Given the description of an element on the screen output the (x, y) to click on. 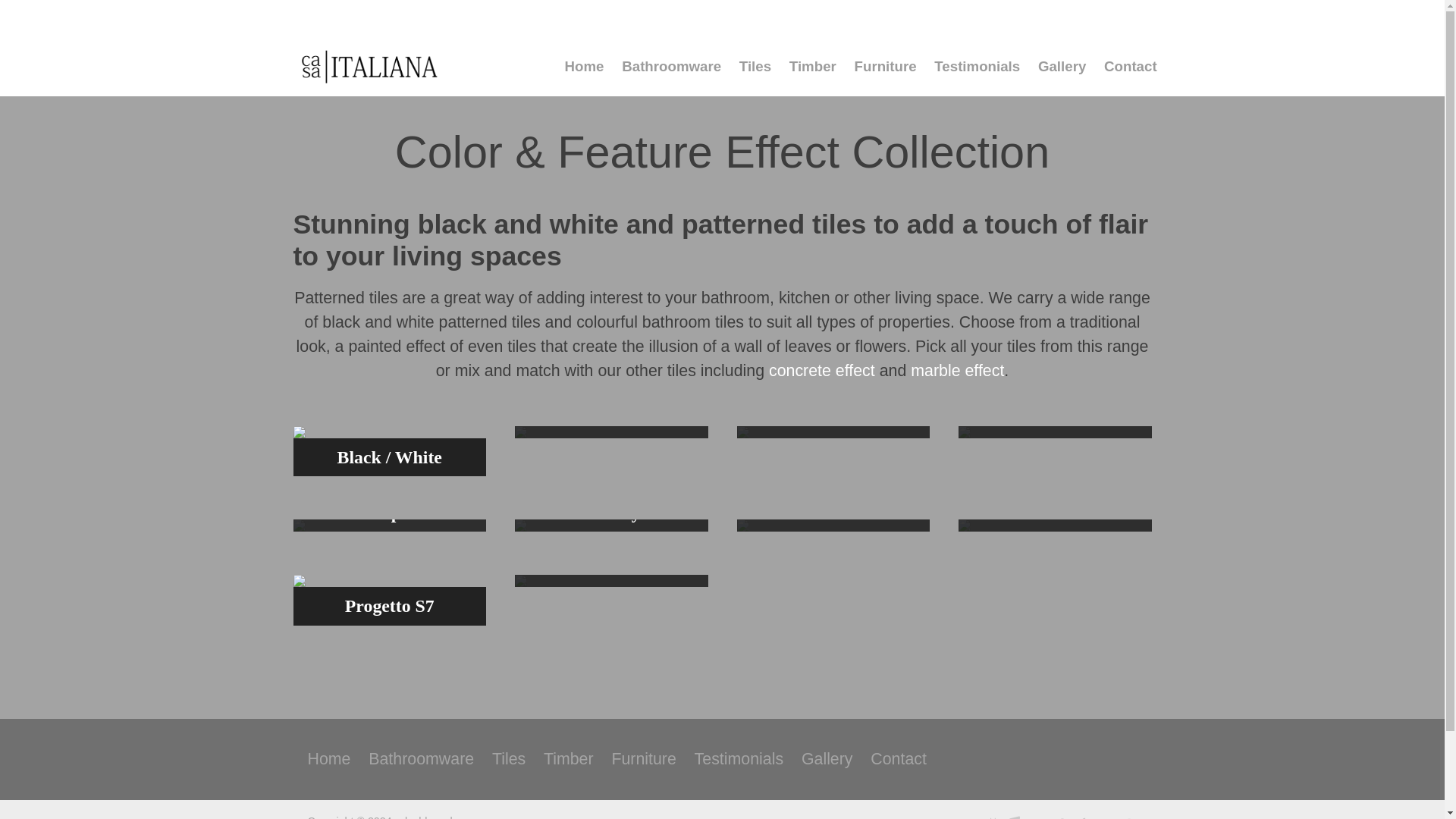
Timber (812, 68)
Bathroomware (671, 68)
Contact (897, 759)
Glaze (833, 431)
Bathroomware (421, 759)
Rocketspark website builder (1046, 816)
Gallery (1061, 68)
Fusion (611, 580)
Home (584, 68)
Furniture (643, 759)
